Given the description of an element on the screen output the (x, y) to click on. 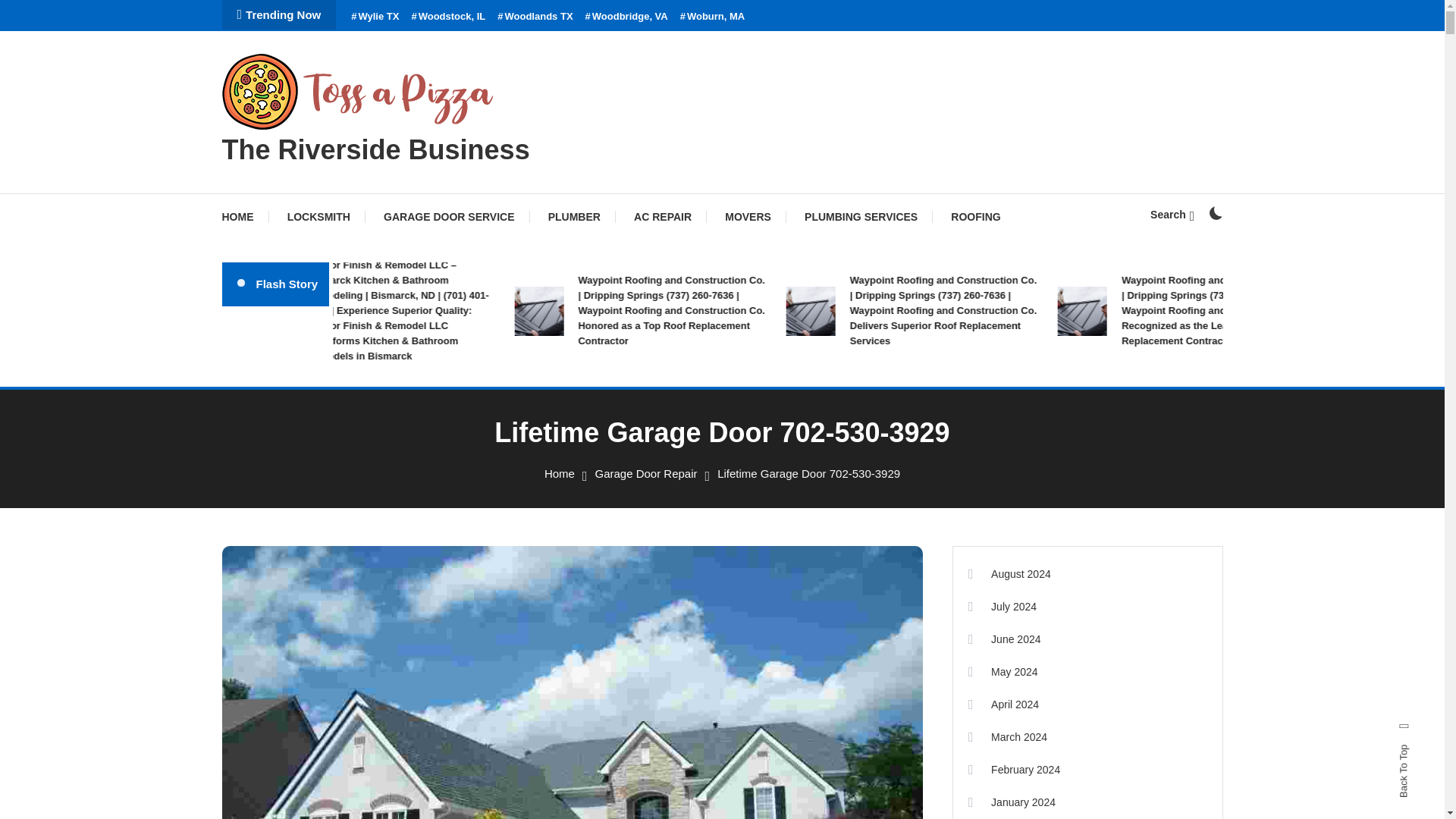
HOME (244, 216)
Search (1171, 214)
AC REPAIR (662, 216)
Search (768, 434)
Wylie TX (374, 16)
The Riverside Business (375, 149)
PLUMBING SERVICES (861, 216)
Woburn, MA (712, 16)
ROOFING (975, 216)
LOCKSMITH (318, 216)
